Given the description of an element on the screen output the (x, y) to click on. 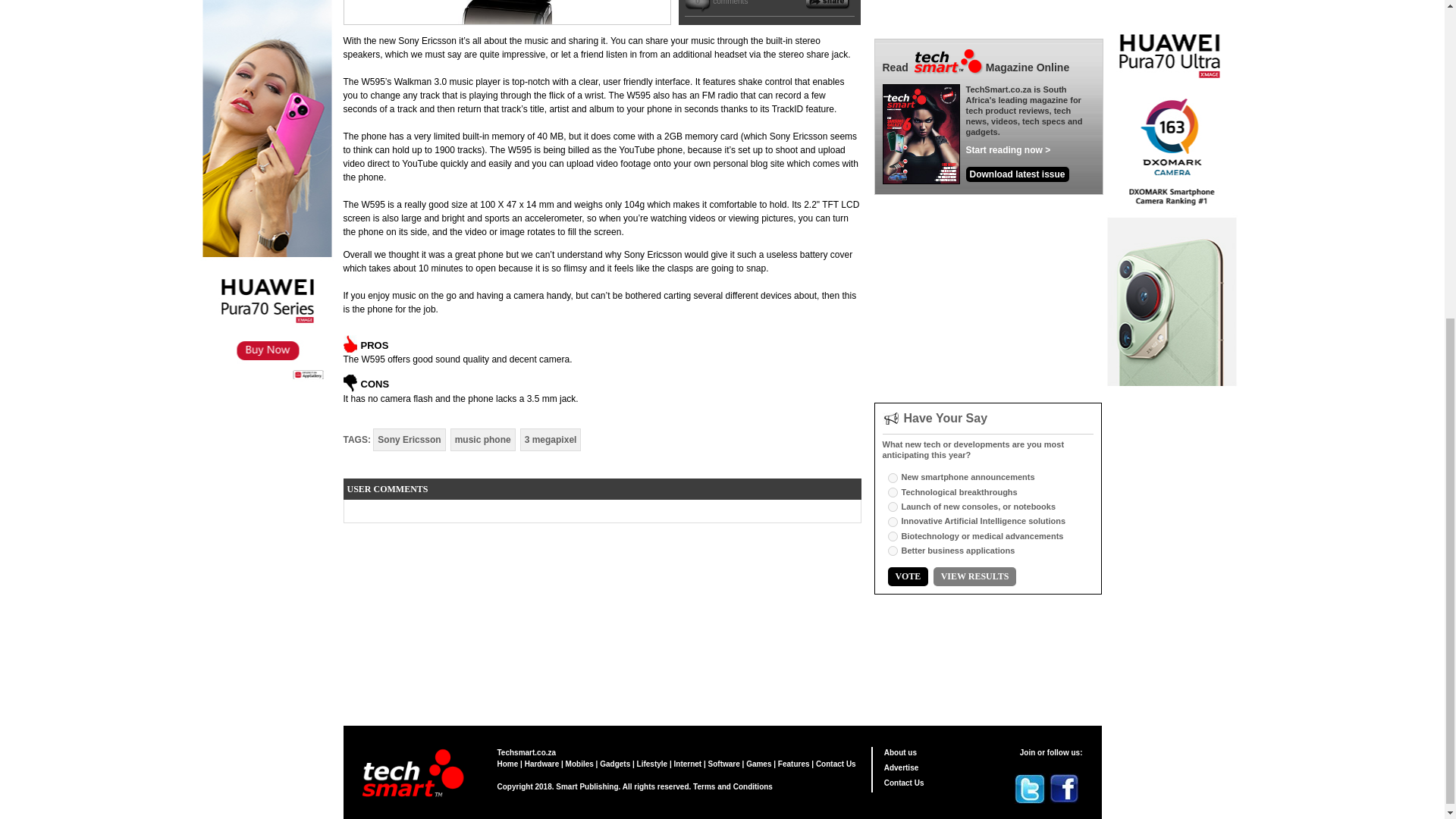
music phone (482, 439)
3 megapixel (549, 439)
Sony Ericsson (408, 439)
